Given the description of an element on the screen output the (x, y) to click on. 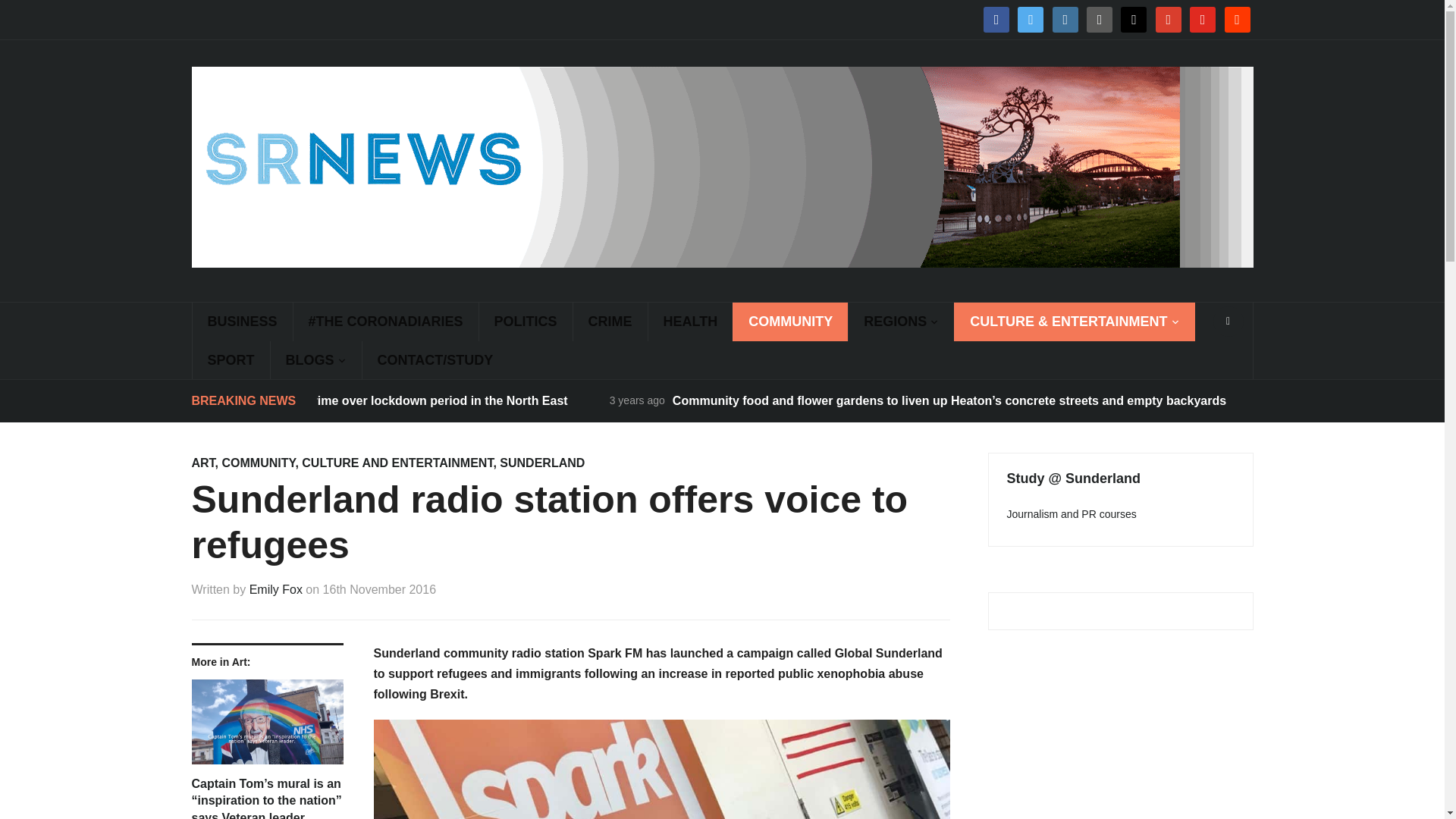
twitter (1030, 18)
instagram (1065, 18)
facebook (996, 18)
soundcloud (1236, 18)
Search (1227, 321)
snapchat (1134, 18)
BUSINESS (241, 321)
vine (1099, 18)
youtube (1202, 18)
Friend me on Facebook (996, 18)
Follow Me (1030, 18)
Instagram (1065, 18)
google (1168, 18)
